Given the description of an element on the screen output the (x, y) to click on. 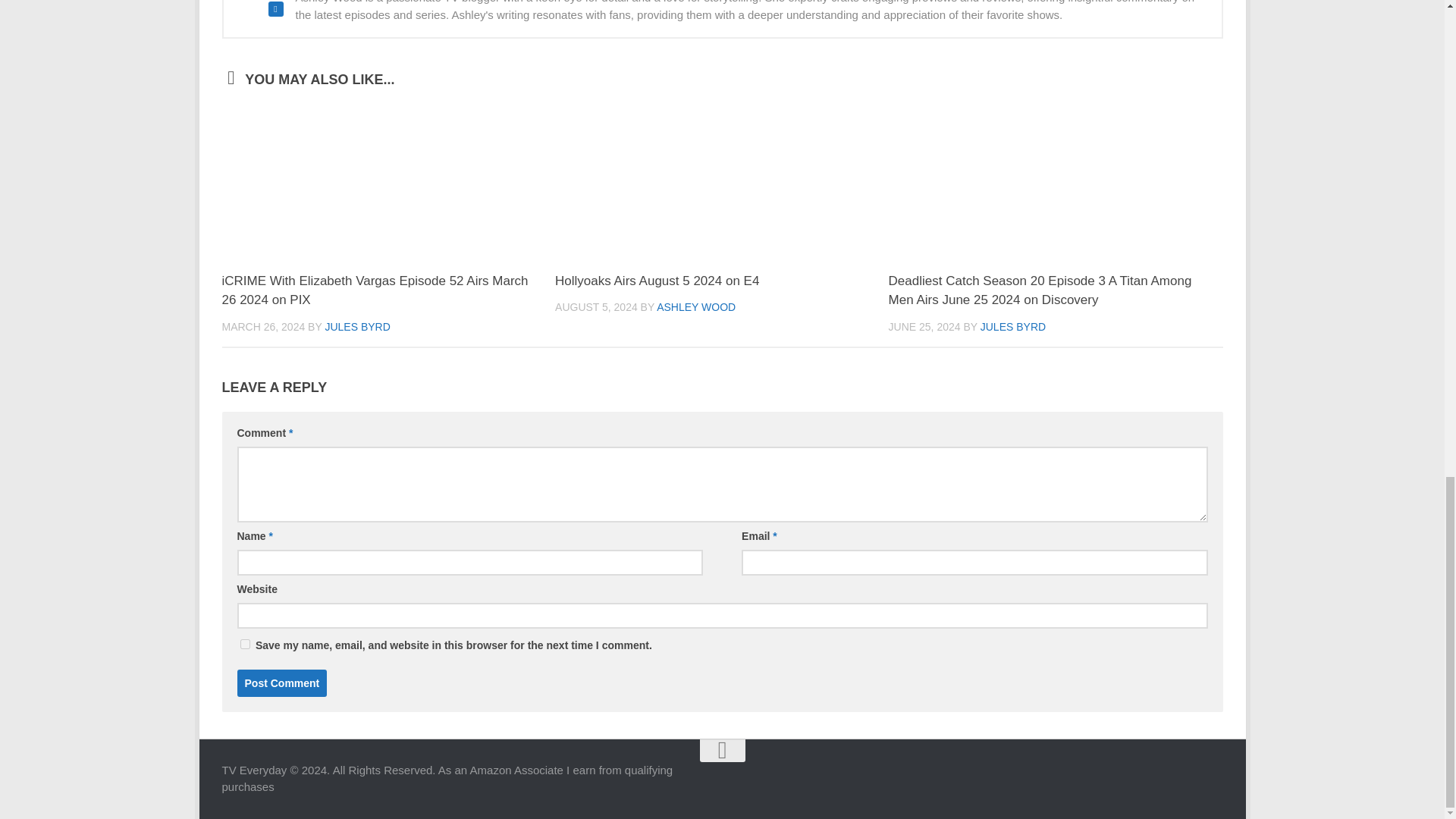
Hollyoaks Airs August 5 2024 on E4 (656, 280)
Posts by Jules Byrd (357, 326)
Posts by Jules Byrd (1012, 326)
JULES BYRD (357, 326)
ASHLEY WOOD (695, 306)
Post Comment (280, 682)
Posts by Ashley Wood (695, 306)
yes (244, 644)
